Given the description of an element on the screen output the (x, y) to click on. 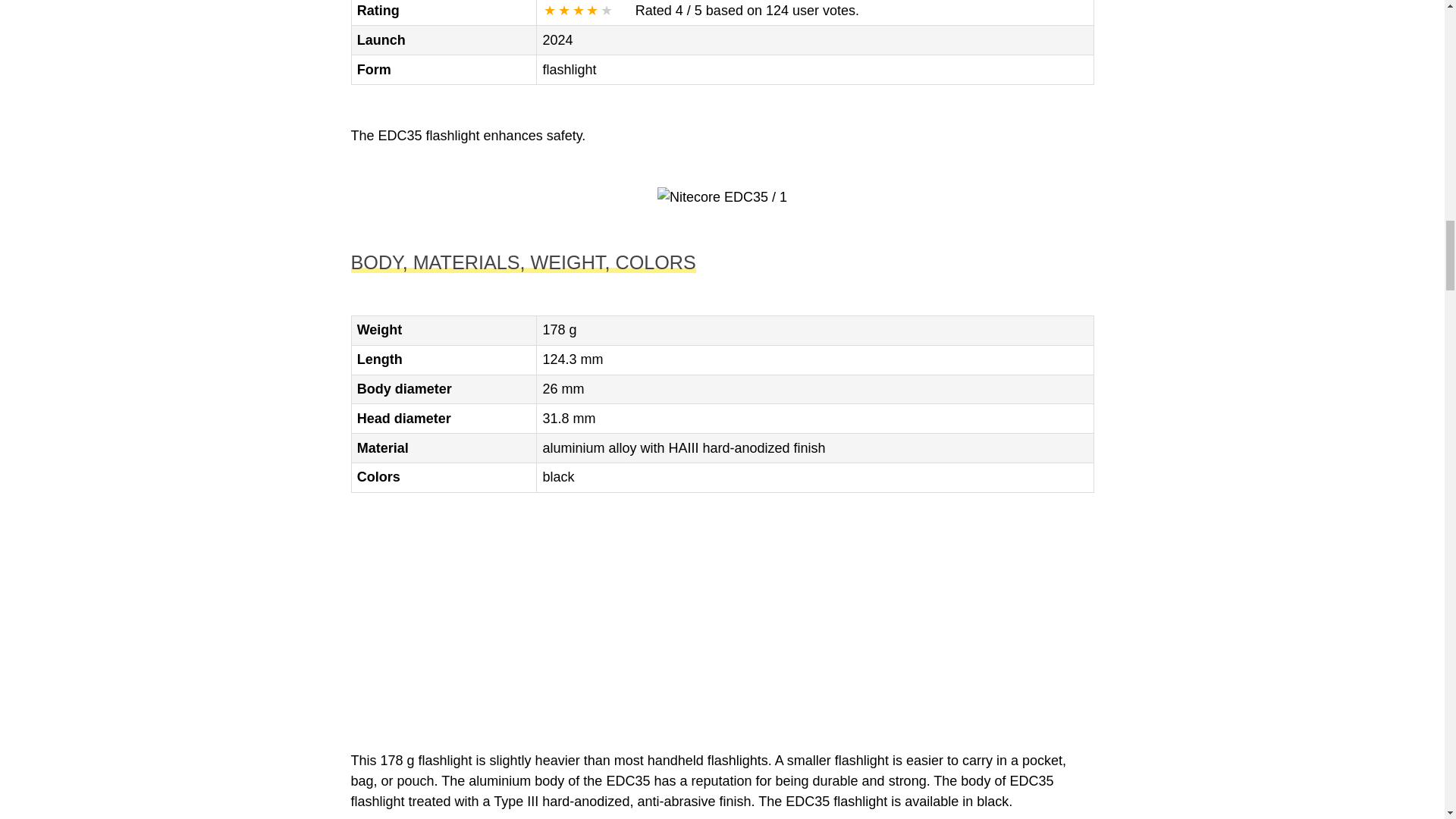
Excellent (605, 10)
Average (578, 10)
Poor (549, 10)
Good (592, 10)
Fair (563, 10)
